Given the description of an element on the screen output the (x, y) to click on. 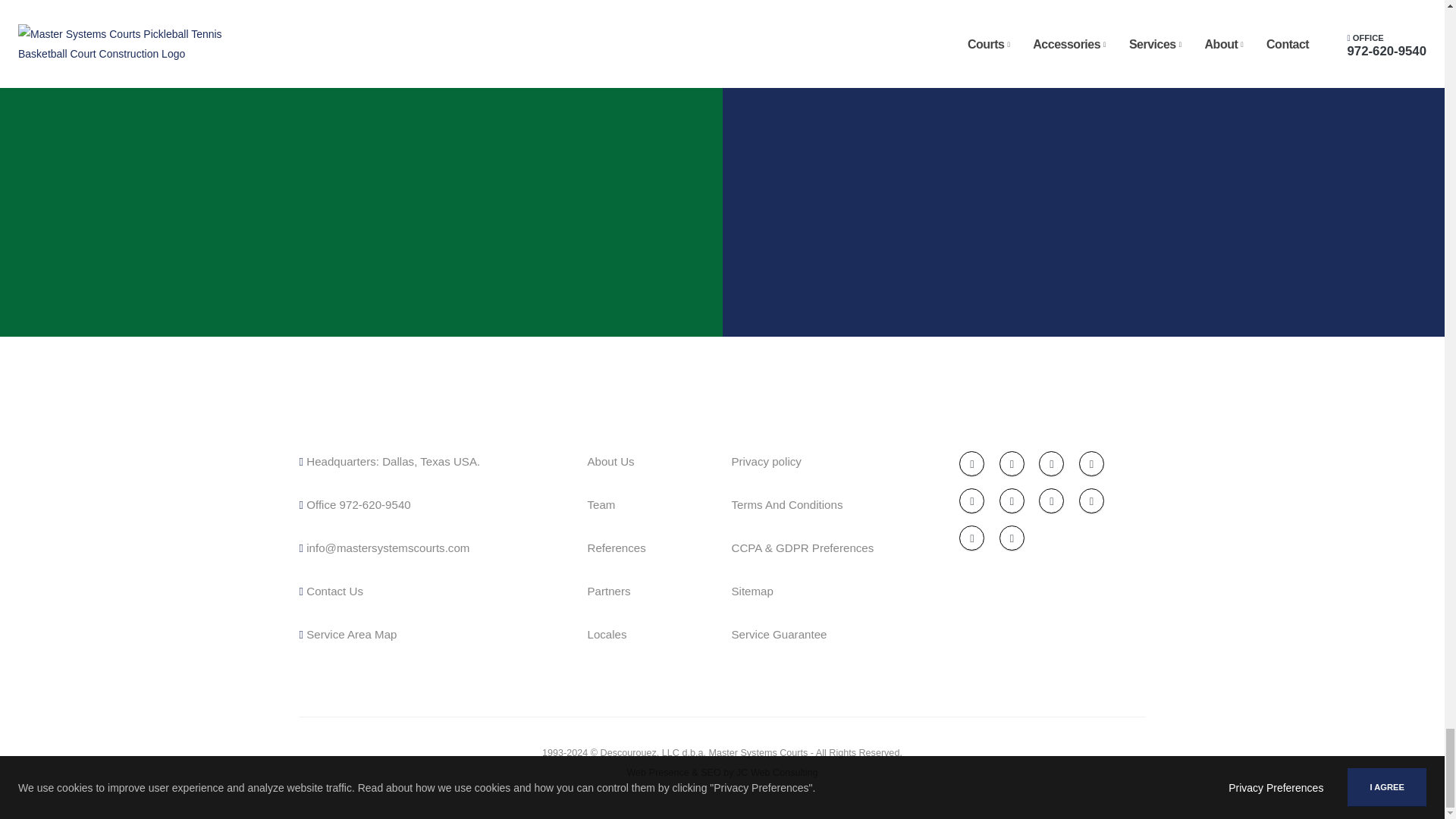
Contact Us (389, 461)
